Given the description of an element on the screen output the (x, y) to click on. 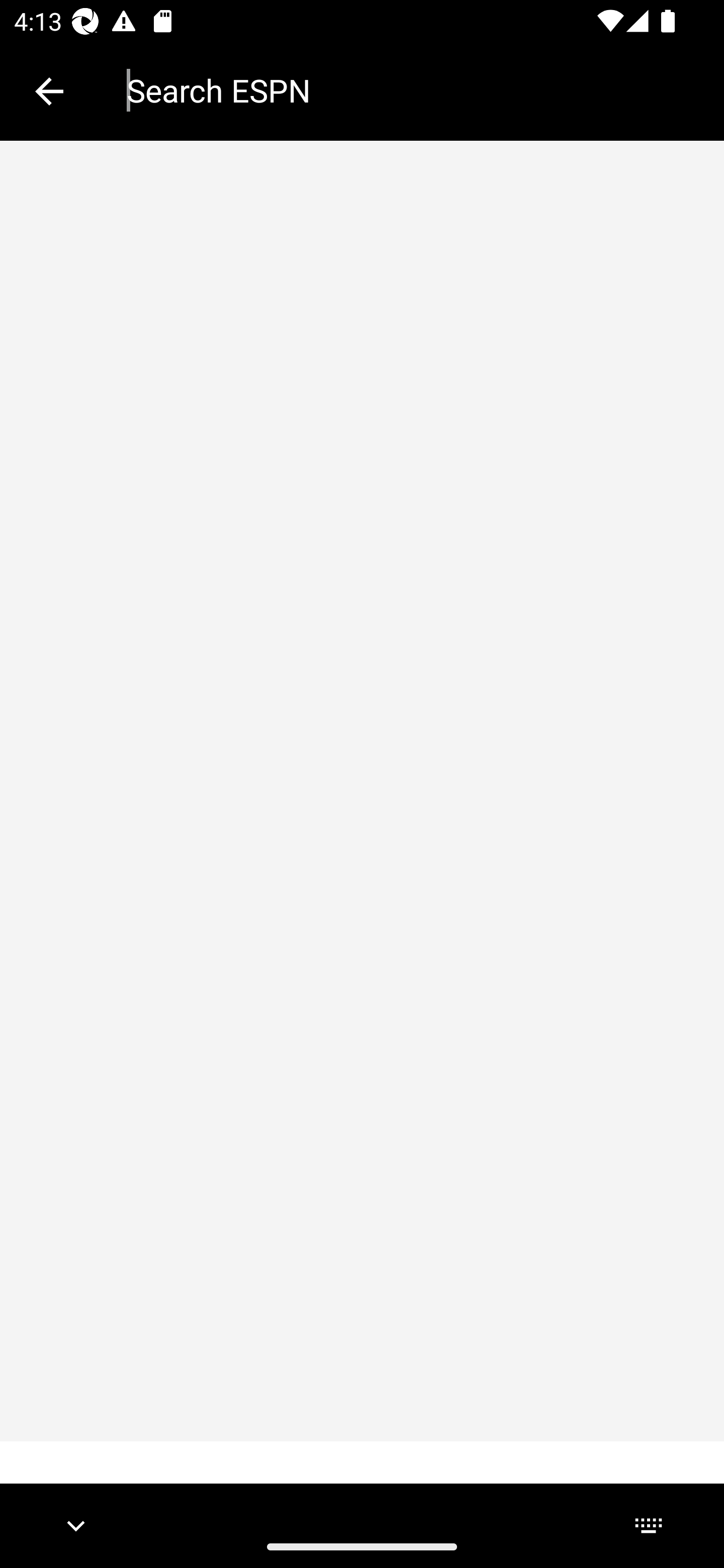
Collapse (49, 91)
Search ESPN (411, 90)
